Given the description of an element on the screen output the (x, y) to click on. 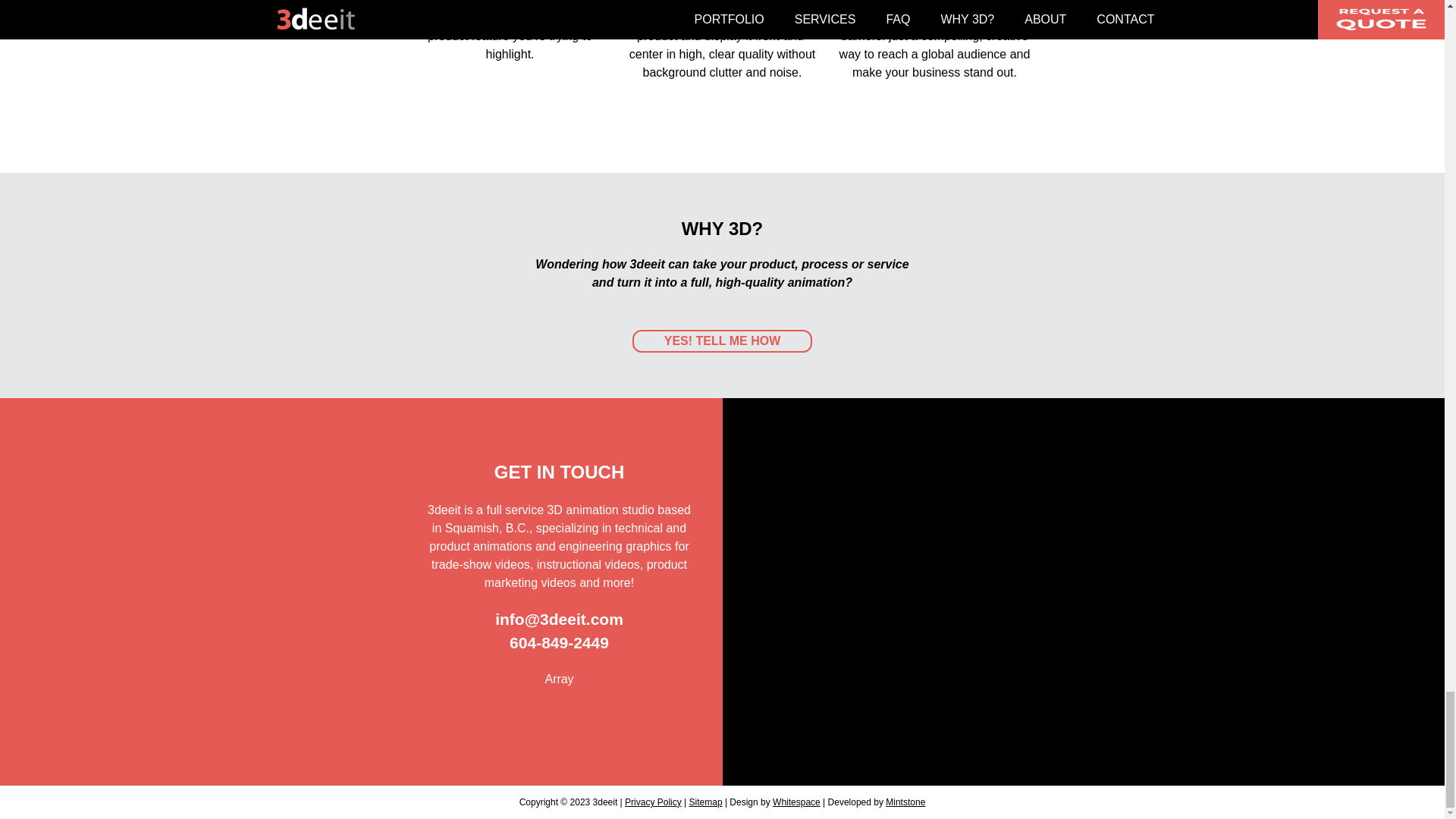
604-849-2449 (558, 642)
YES! TELL ME HOW (721, 341)
Sitemap (705, 801)
Privacy Policy (652, 801)
Mintstone (904, 801)
Whitespace (797, 801)
